Given the description of an element on the screen output the (x, y) to click on. 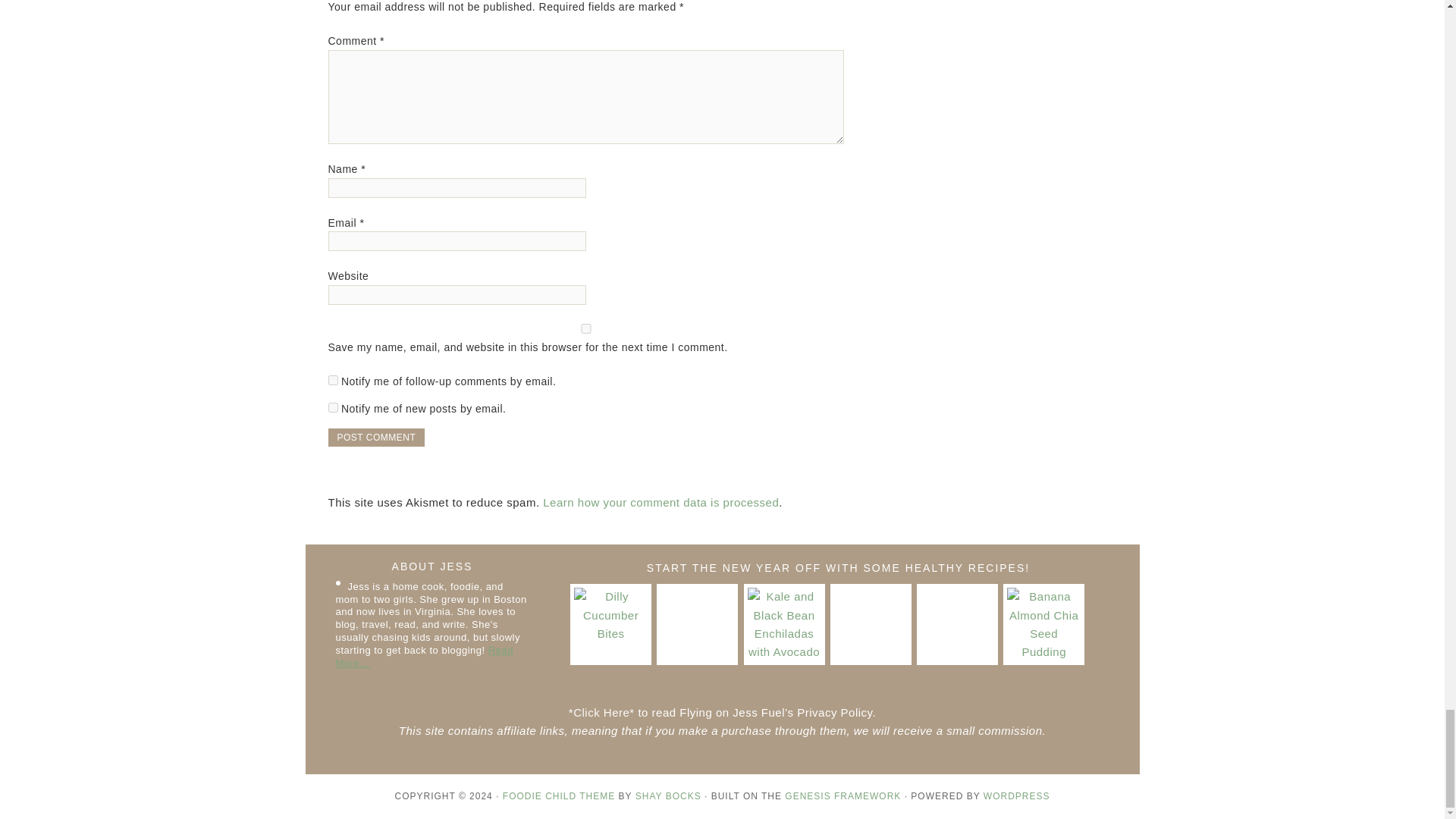
subscribe (332, 407)
Roasted Tomatillo Salsa Verde (870, 624)
Dilly Cucumber Bites (610, 624)
yes (585, 328)
Post Comment (376, 437)
subscribe (332, 379)
Sausage, Kale and Squash Soup (957, 624)
Cashew Chicken Lettuce Wraps (697, 624)
